Given the description of an element on the screen output the (x, y) to click on. 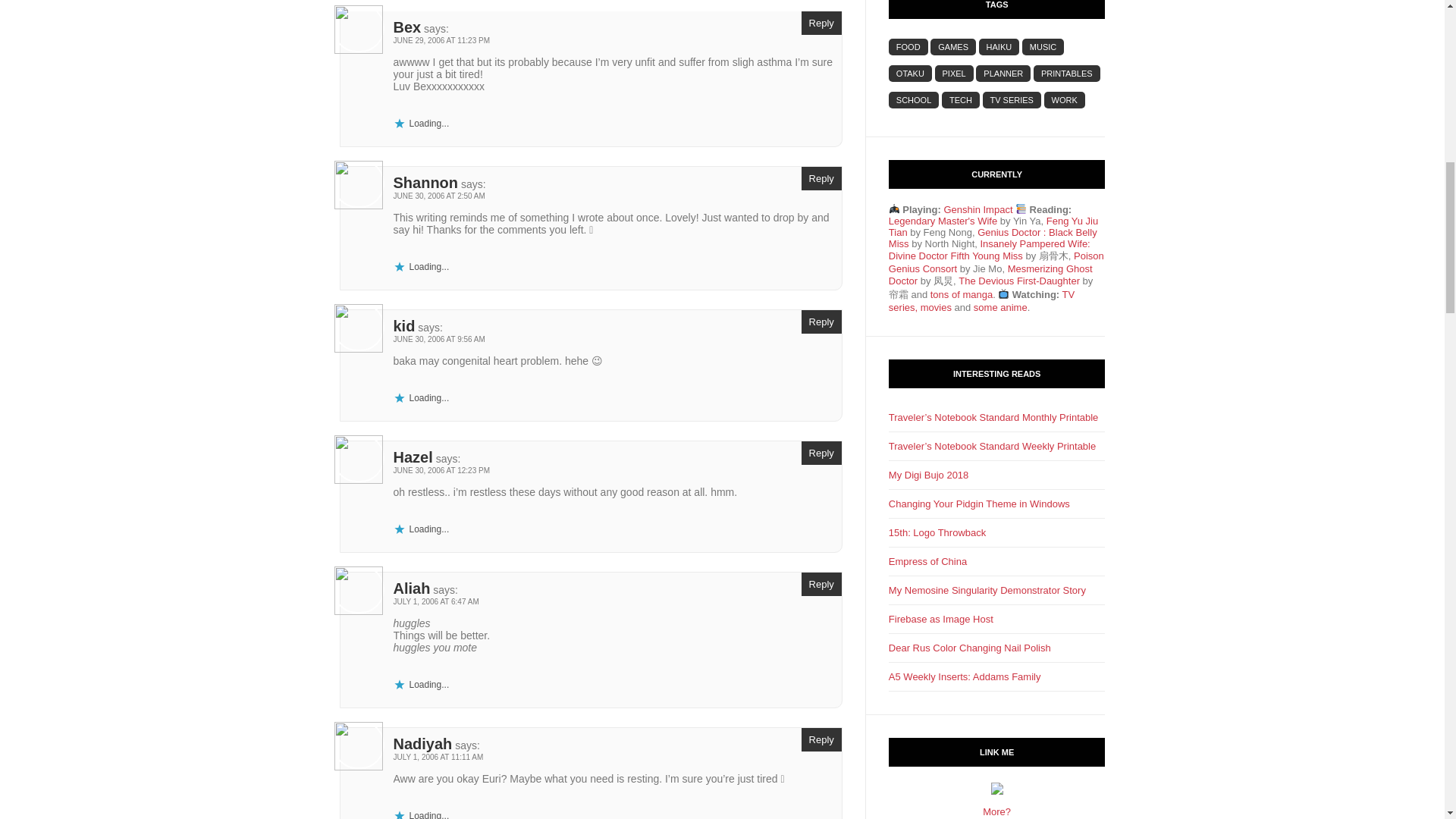
Bex (406, 27)
kid (403, 325)
JUNE 30, 2006 AT 9:56 AM (438, 338)
Reply (821, 178)
Shannon (425, 182)
Reply (821, 23)
JUNE 30, 2006 AT 2:50 AM (438, 195)
JUNE 29, 2006 AT 11:23 PM (441, 40)
